Given the description of an element on the screen output the (x, y) to click on. 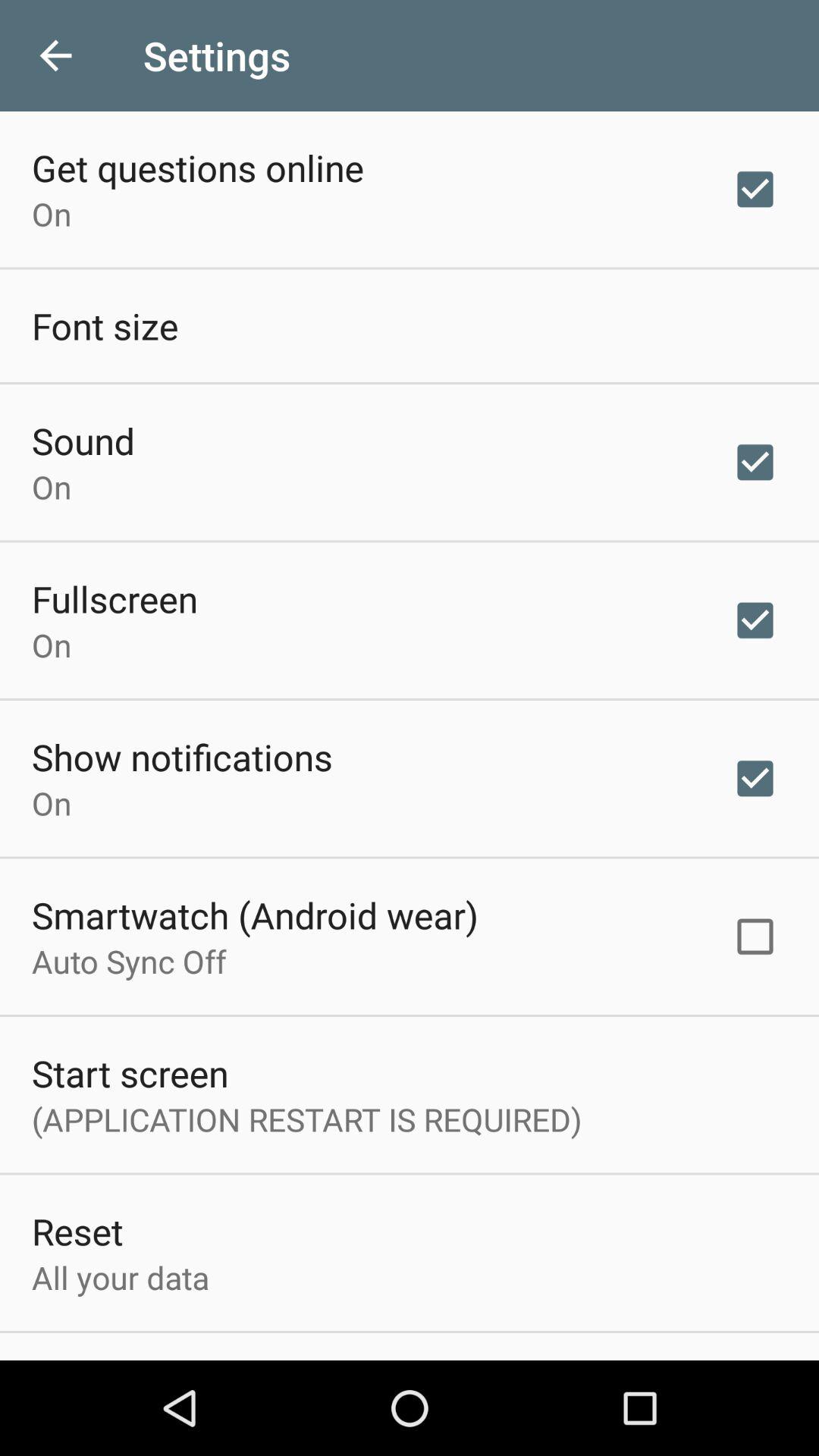
scroll to application restart is item (306, 1118)
